Given the description of an element on the screen output the (x, y) to click on. 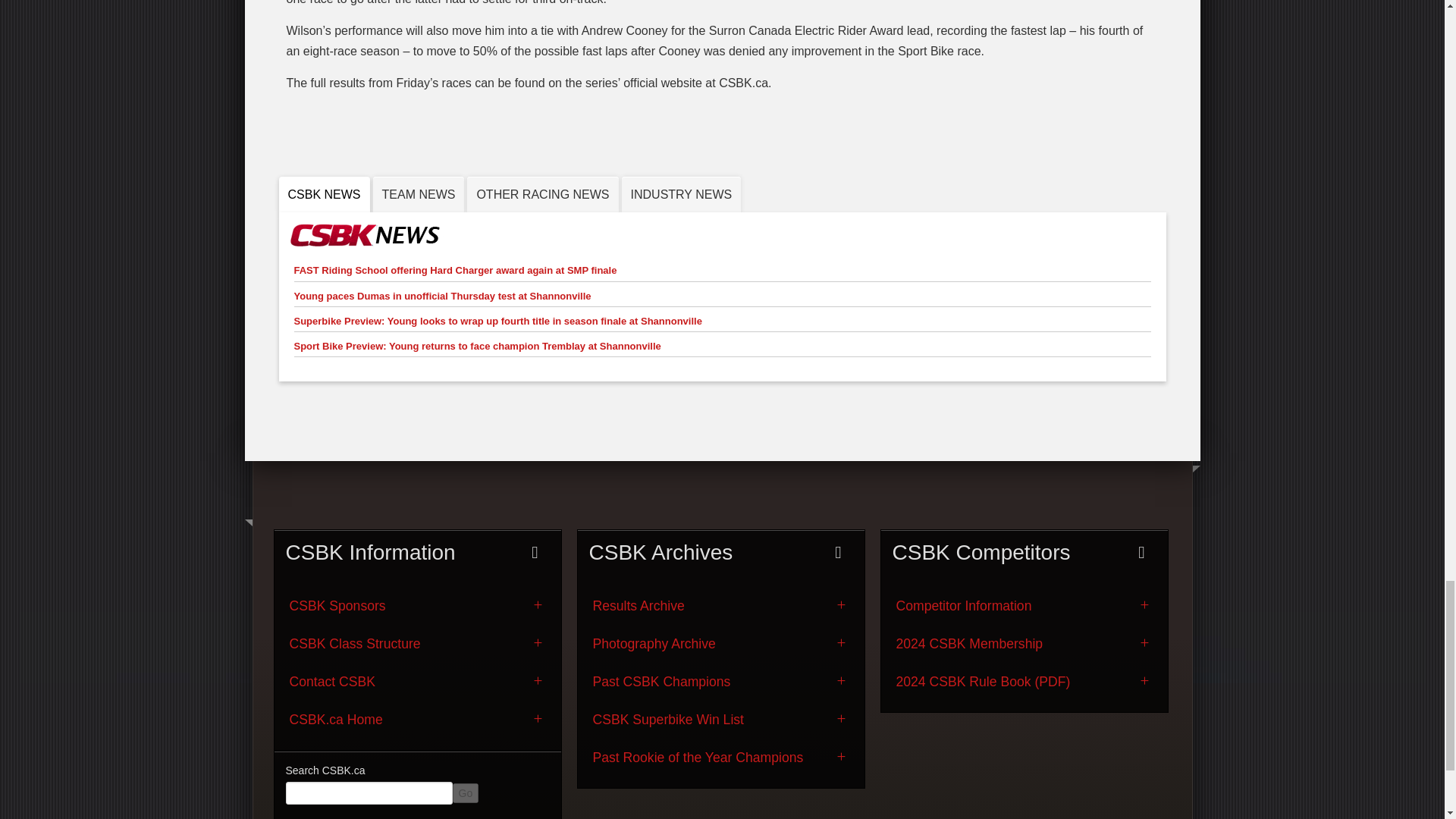
Go (465, 792)
